Given the description of an element on the screen output the (x, y) to click on. 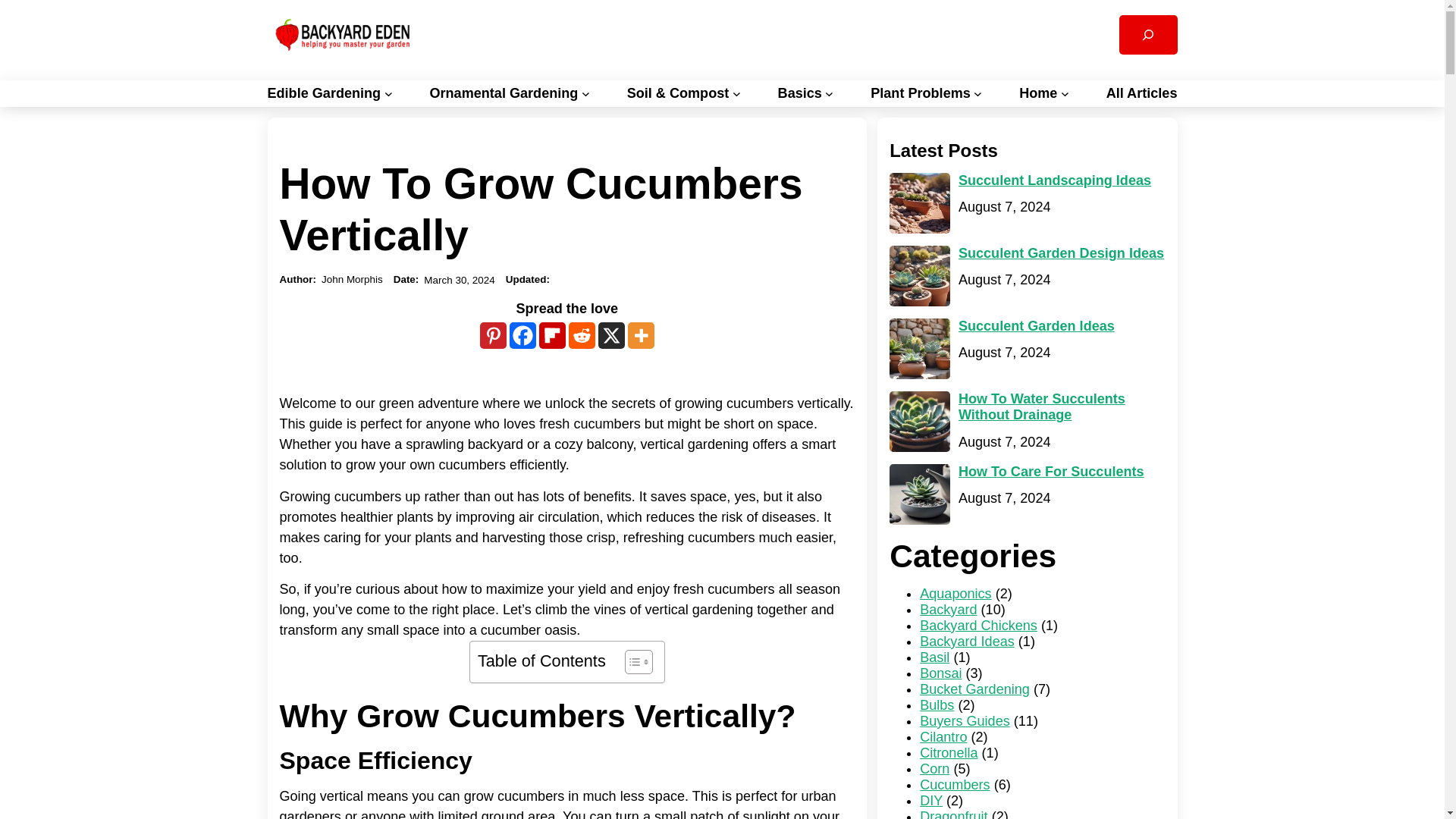
Ornamental Gardening (503, 93)
Facebook (522, 335)
Edible Gardening (323, 93)
Basics (799, 93)
Plant Problems (920, 93)
Home (1038, 93)
More (640, 335)
Flipboard (552, 335)
X (611, 335)
Reddit (582, 335)
Pinterest (493, 335)
